Given the description of an element on the screen output the (x, y) to click on. 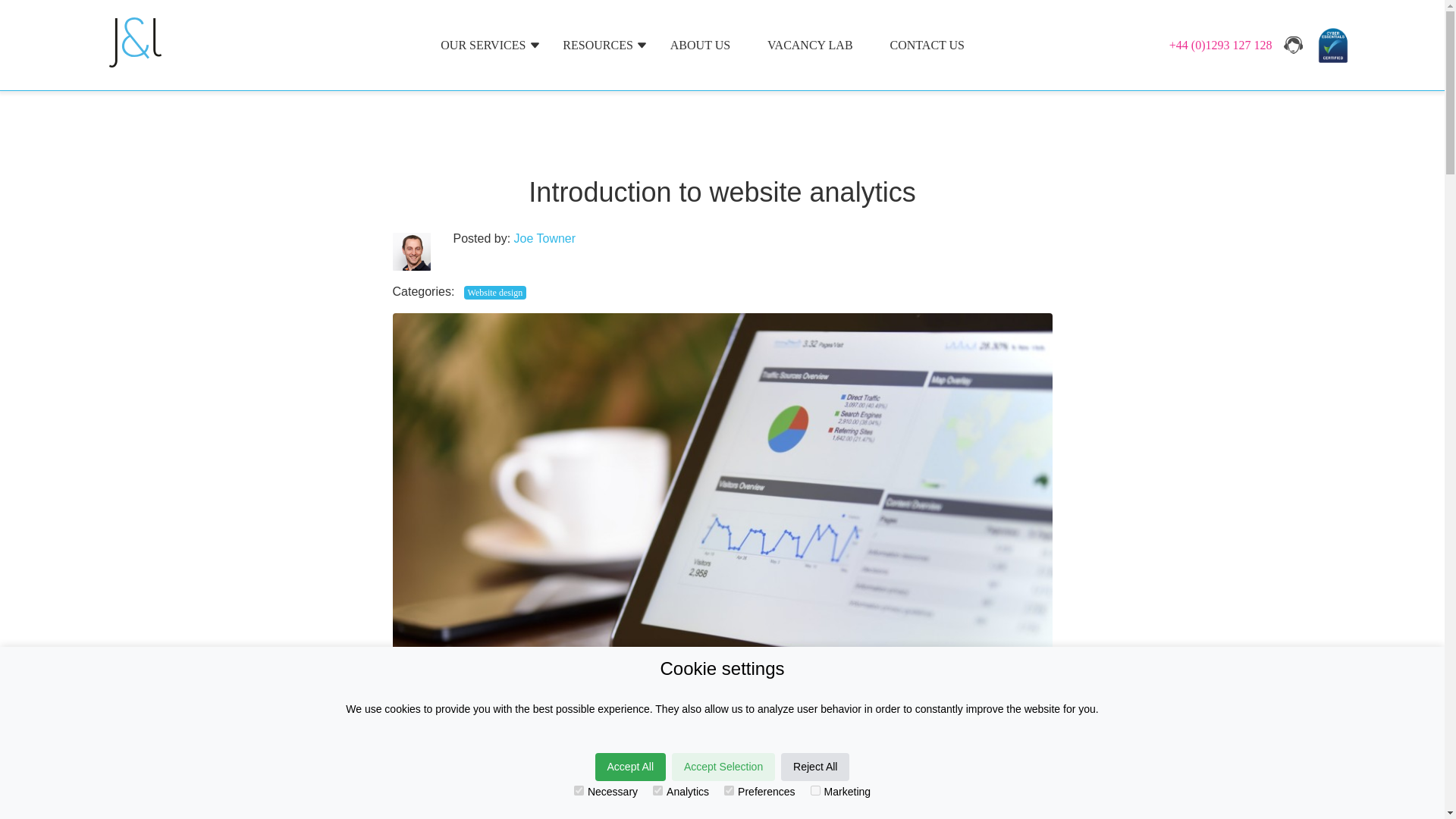
Joe Towner (544, 237)
Analytics (657, 790)
CONTACT US (926, 44)
VACANCY LAB (809, 44)
OUR SERVICES (483, 44)
Website design (494, 292)
Necessary (578, 790)
Cyber Essentials Certified (1332, 44)
Preferences (728, 790)
Get support (1291, 45)
